Given the description of an element on the screen output the (x, y) to click on. 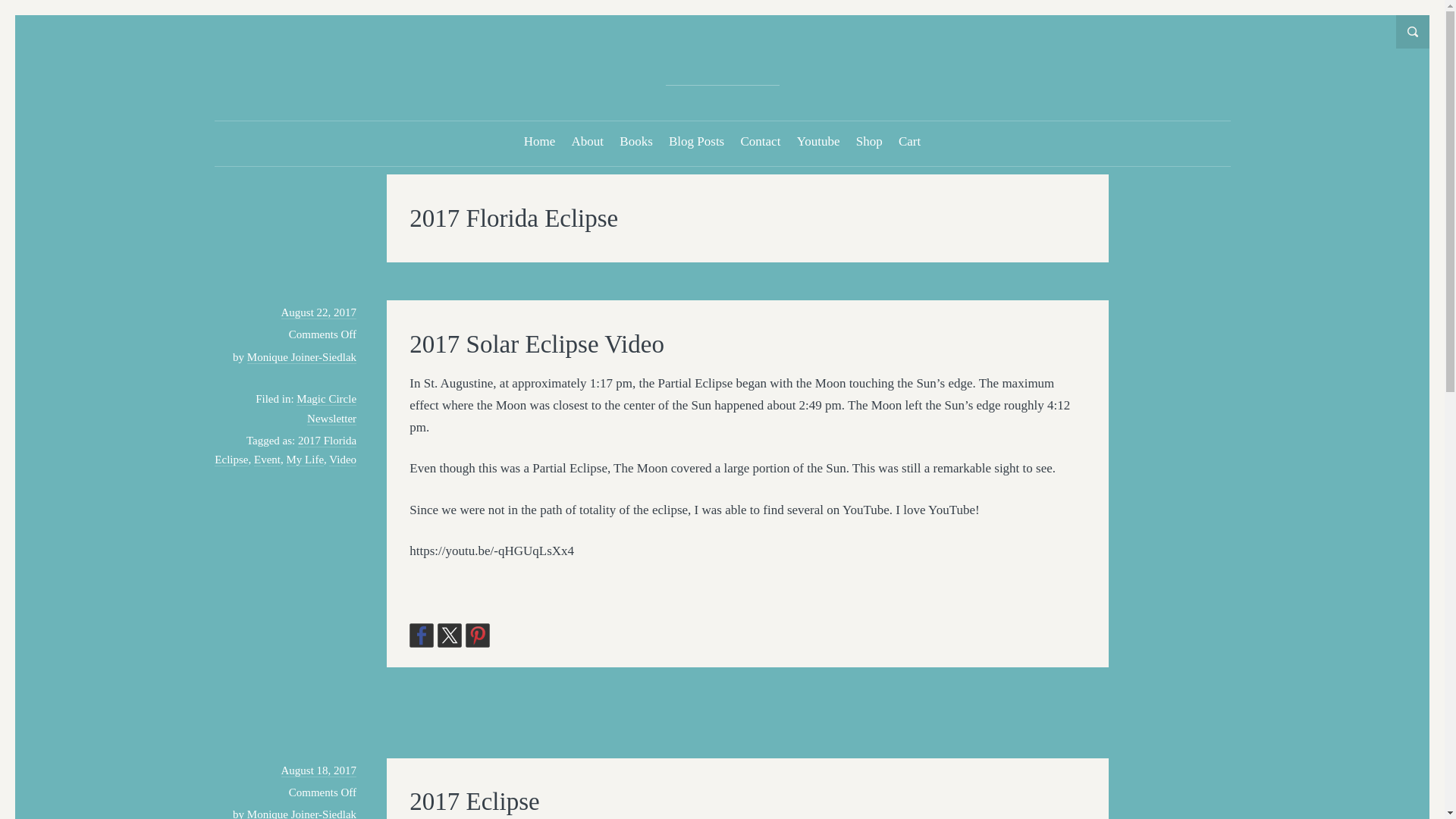
Posts by Monique Joiner-Siedlak (301, 357)
Event (267, 459)
Share on Twitter (449, 635)
Open Search (1412, 31)
2017 Eclipse - Continue reading (473, 800)
Search (23, 9)
My Life (305, 459)
Home (540, 141)
2017 Eclipse (318, 770)
2017 Solar Eclipse Video - Continue reading (536, 343)
